Given the description of an element on the screen output the (x, y) to click on. 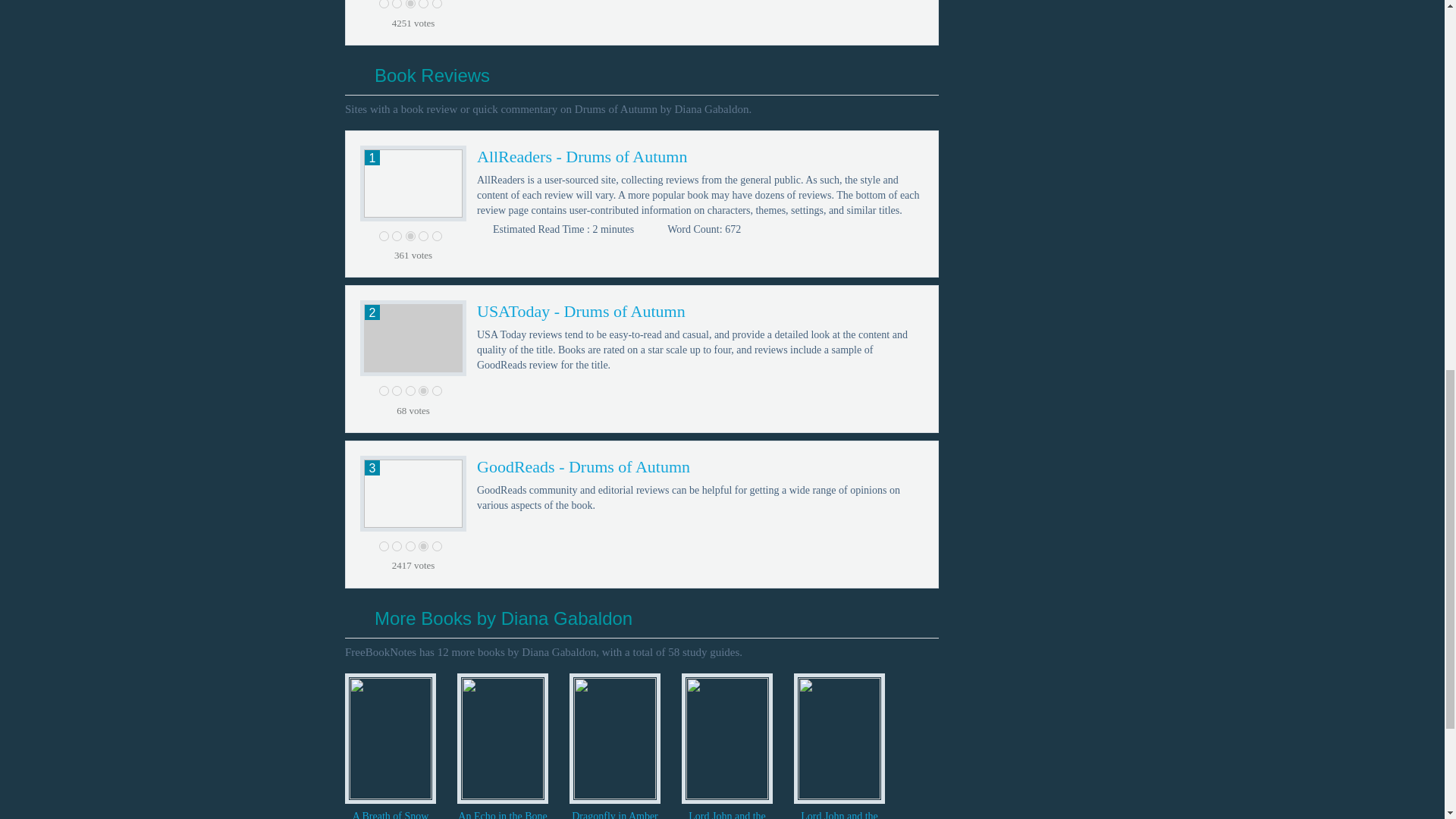
Lord John and the Brotherhood ... (727, 814)
3 (410, 4)
4 (423, 390)
4 (423, 4)
2 (396, 390)
3 (410, 390)
2 (396, 235)
An Echo in the Bone (502, 814)
5 (437, 390)
Dragonfly in Amber (615, 814)
